Given the description of an element on the screen output the (x, y) to click on. 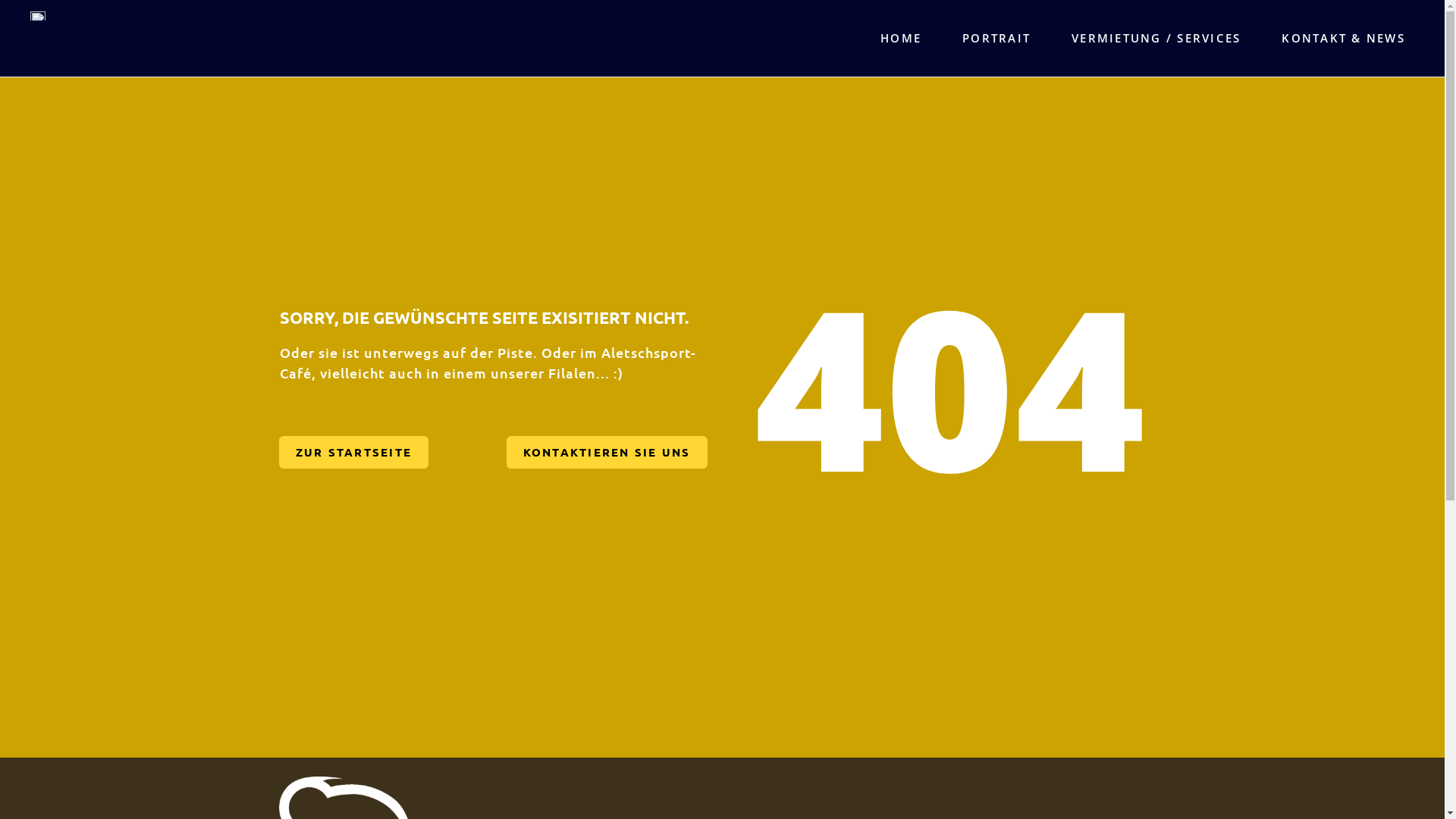
HOME Element type: text (899, 38)
KONTAKT & NEWS Element type: text (1342, 38)
PORTRAIT Element type: text (995, 38)
KONTAKTIEREN SIE UNS Element type: text (606, 452)
VERMIETUNG / SERVICES Element type: text (1154, 38)
ZUR STARTSEITE Element type: text (354, 452)
